Given the description of an element on the screen output the (x, y) to click on. 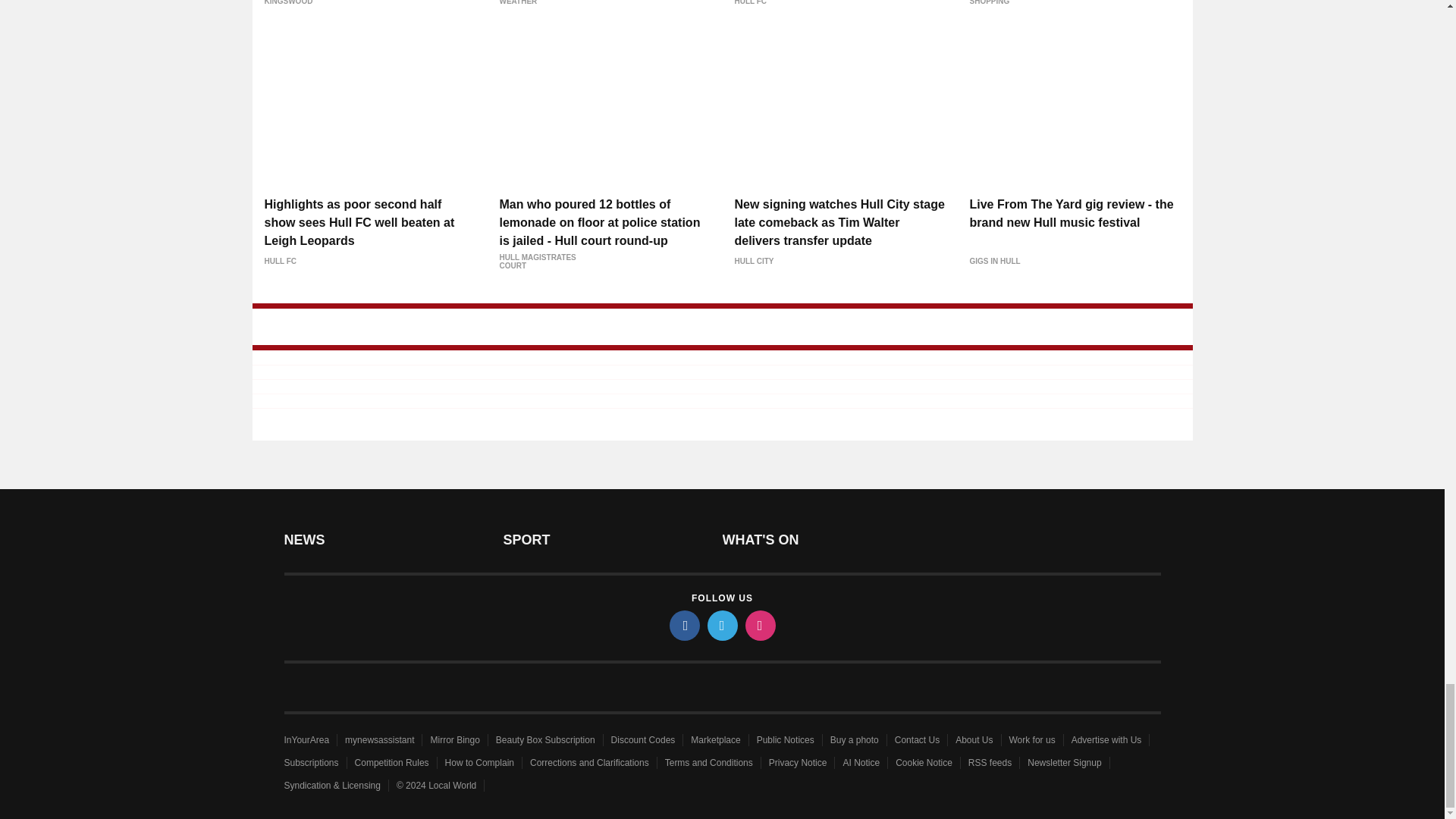
instagram (759, 625)
twitter (721, 625)
facebook (683, 625)
